Given the description of an element on the screen output the (x, y) to click on. 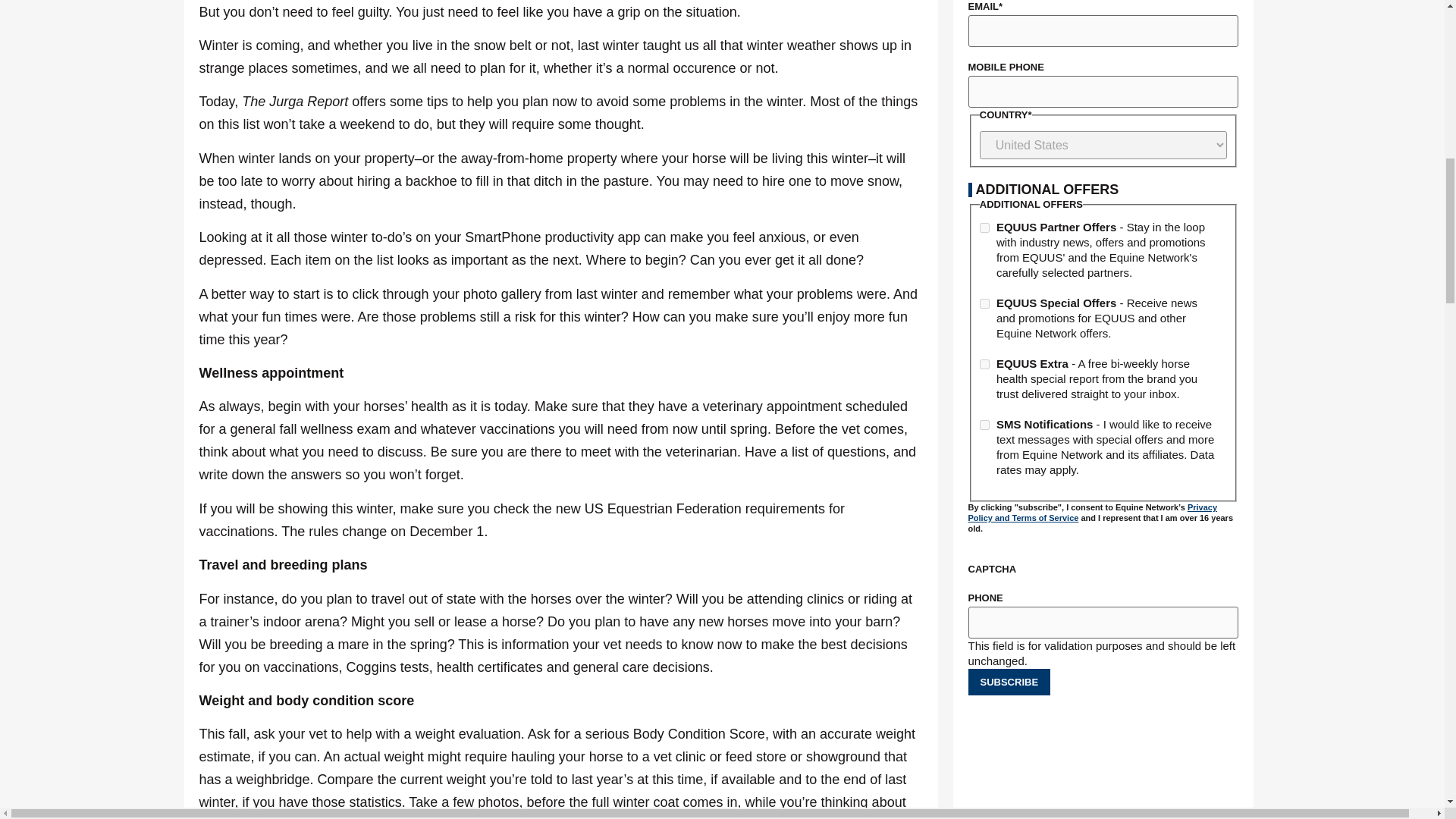
SMS Notifications (984, 424)
0cd2e389-c43e-4146-b3bb-59ab437fd8f4 (984, 364)
591f5baa-e9c3-40bf-bf02-f5923680caa3 (984, 303)
52f26a8f-e5be-4237-a9cb-227d8912a511 (984, 227)
Subscribe (1008, 682)
